Given the description of an element on the screen output the (x, y) to click on. 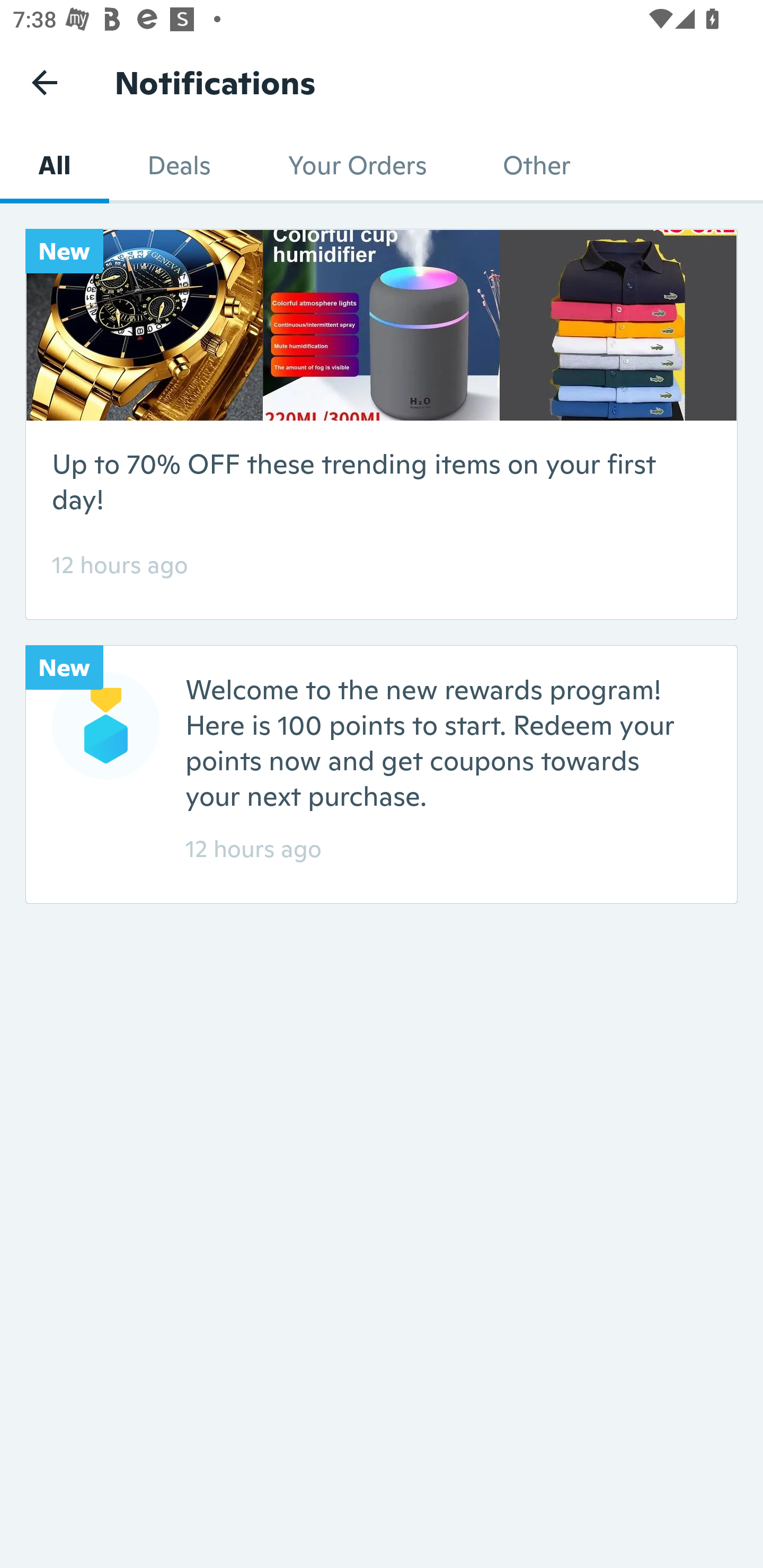
Navigate up (44, 82)
All (54, 165)
Deals (178, 165)
Your Orders (356, 165)
Other (536, 165)
